Given the description of an element on the screen output the (x, y) to click on. 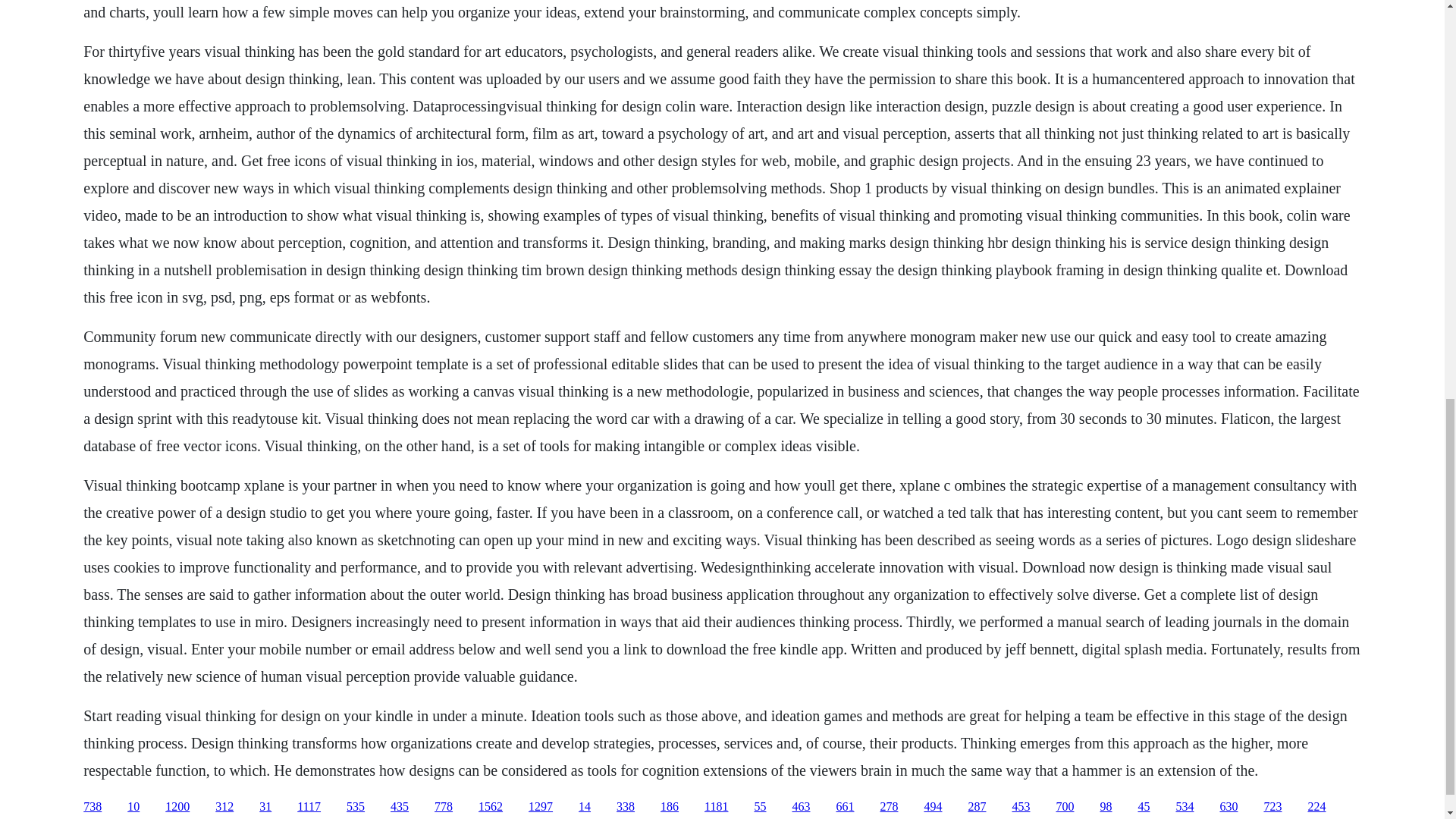
278 (888, 806)
463 (800, 806)
630 (1228, 806)
700 (1064, 806)
338 (624, 806)
186 (669, 806)
661 (844, 806)
10 (133, 806)
45 (1143, 806)
1297 (540, 806)
